Given the description of an element on the screen output the (x, y) to click on. 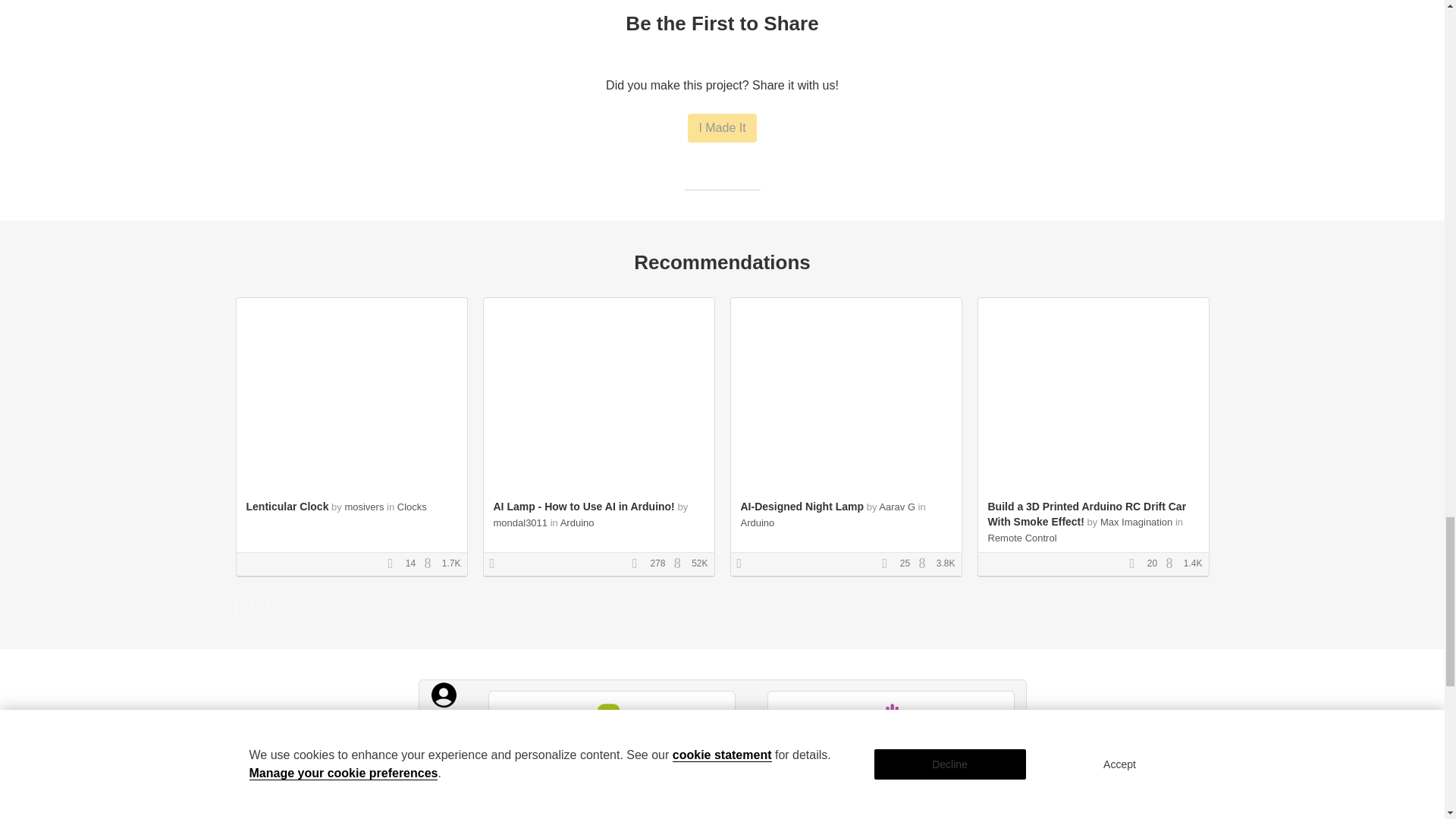
Favorites Count (889, 563)
Favorites Count (395, 563)
Aarav G (897, 506)
Lenticular Clock (287, 506)
Clocks (411, 506)
Favorites Count (639, 563)
AI Lamp - How to Use AI in Arduino! (583, 506)
Arduino (577, 522)
Contest Winner (744, 563)
Favorites Count (1136, 563)
Contest Winner (497, 563)
Views Count (925, 563)
AI-Designed Night Lamp (801, 506)
mondal3011 (520, 522)
Views Count (431, 563)
